Given the description of an element on the screen output the (x, y) to click on. 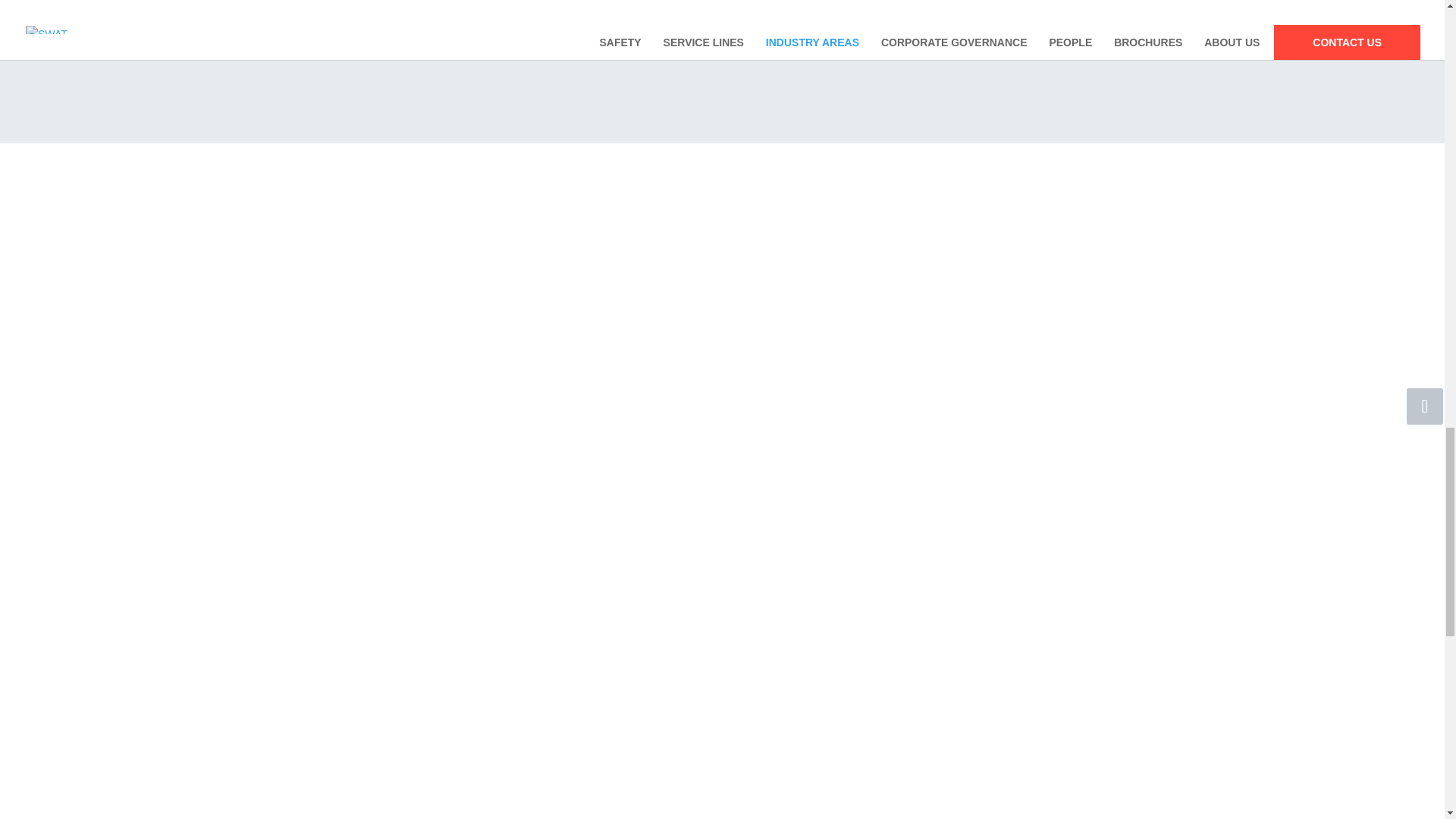
LP-IndustryAreas-Card-RenewablesBio (795, 28)
LP-IndustryAreas-Card-ChemicalPlant (647, 28)
LP-IndustryAreas-Card-TalktoanExpert (944, 28)
LP-IndustryAreas-Card-OilRefinery (498, 28)
